Given the description of an element on the screen output the (x, y) to click on. 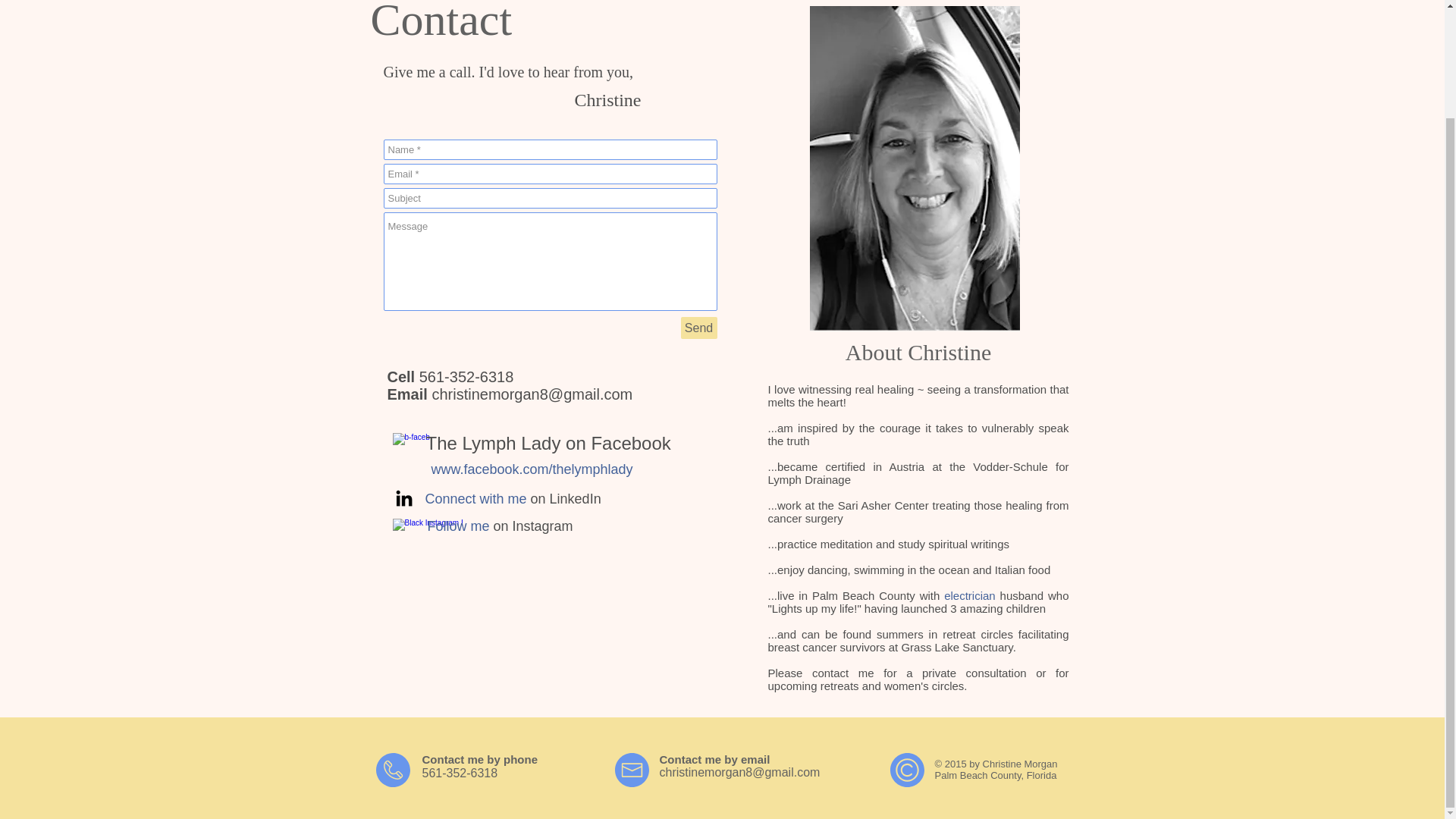
electrician (969, 594)
Contact me by email (714, 758)
Follow me (458, 525)
Connect with me (475, 498)
Send (699, 327)
The Lymph Lady on Facebook (548, 443)
